Given the description of an element on the screen output the (x, y) to click on. 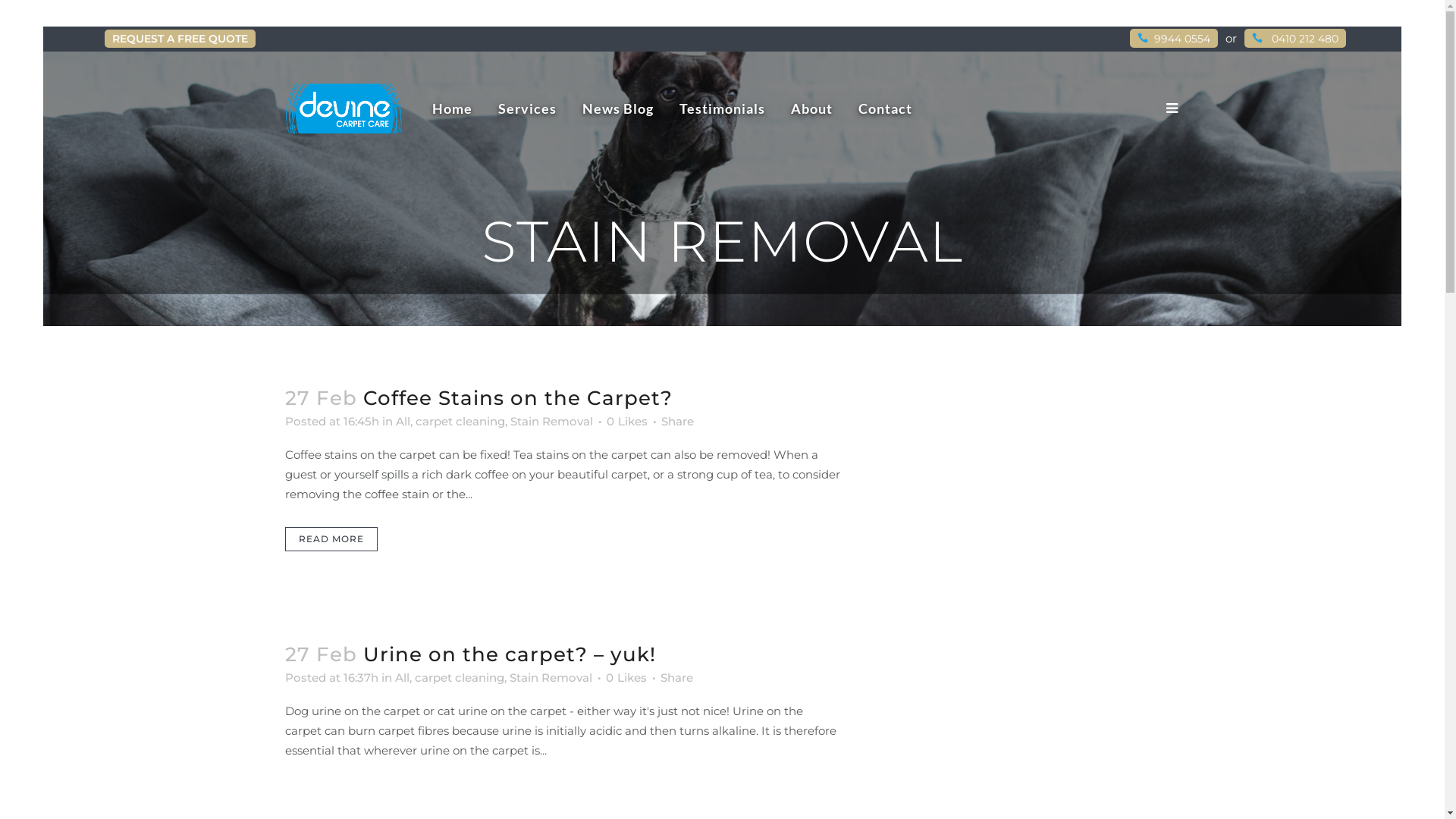
0 Likes Element type: text (626, 421)
Stain Removal Element type: text (550, 421)
Home Element type: text (451, 108)
  9944 0554 Element type: text (1173, 37)
READ MORE Element type: text (331, 795)
Share Element type: text (677, 421)
carpet cleaning Element type: text (458, 677)
Testimonials Element type: text (721, 108)
Services Element type: text (527, 108)
carpet cleaning Element type: text (460, 421)
All Element type: text (401, 677)
REQUEST A FREE QUOTE Element type: text (179, 38)
Contact Element type: text (884, 108)
About Element type: text (811, 108)
News Blog Element type: text (616, 108)
READ MORE Element type: text (331, 539)
  0410 212 480 Element type: text (1295, 37)
Share Element type: text (675, 677)
Stain Removal Element type: text (550, 677)
All Element type: text (402, 421)
Coffee Stains on the Carpet? Element type: text (516, 397)
0 Likes Element type: text (625, 677)
